Given the description of an element on the screen output the (x, y) to click on. 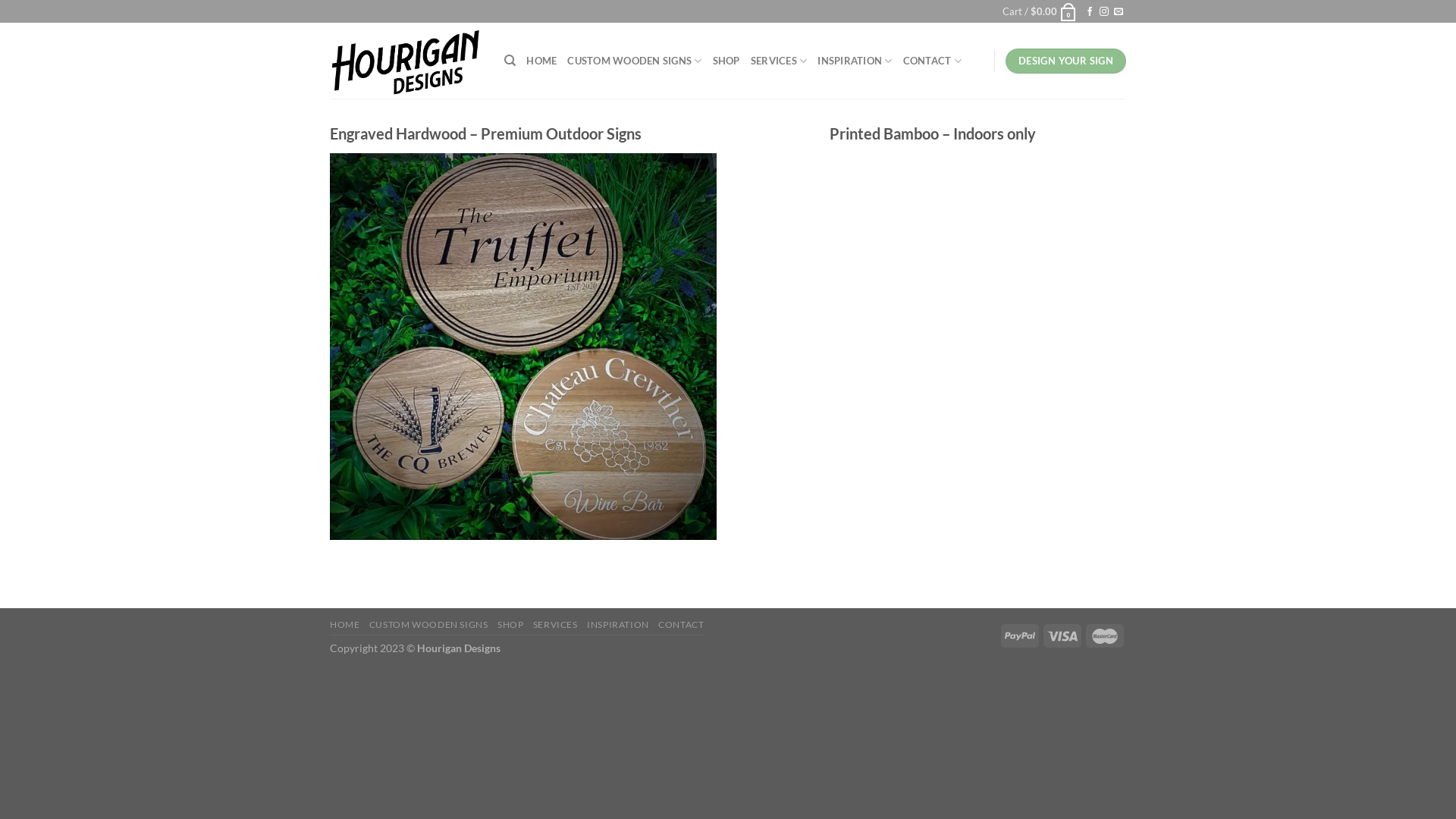
SHOP Element type: text (726, 60)
DESIGN YOUR SIGN Element type: text (1065, 61)
Follow on Instagram Element type: hover (1103, 11)
Hourigan Designs Element type: hover (405, 61)
SERVICES Element type: text (555, 624)
SERVICES Element type: text (778, 60)
INSPIRATION Element type: text (617, 624)
HOME Element type: text (541, 60)
INSPIRATION Element type: text (854, 60)
HOME Element type: text (344, 624)
Send us an email Element type: hover (1118, 11)
CUSTOM WOODEN SIGNS Element type: text (634, 60)
CONTACT Element type: text (932, 60)
SHOP Element type: text (510, 624)
Cart / $0.00
0 Element type: text (1039, 11)
CONTACT Element type: text (680, 624)
Follow on Facebook Element type: hover (1089, 11)
CUSTOM WOODEN SIGNS Element type: text (428, 624)
